Given the description of an element on the screen output the (x, y) to click on. 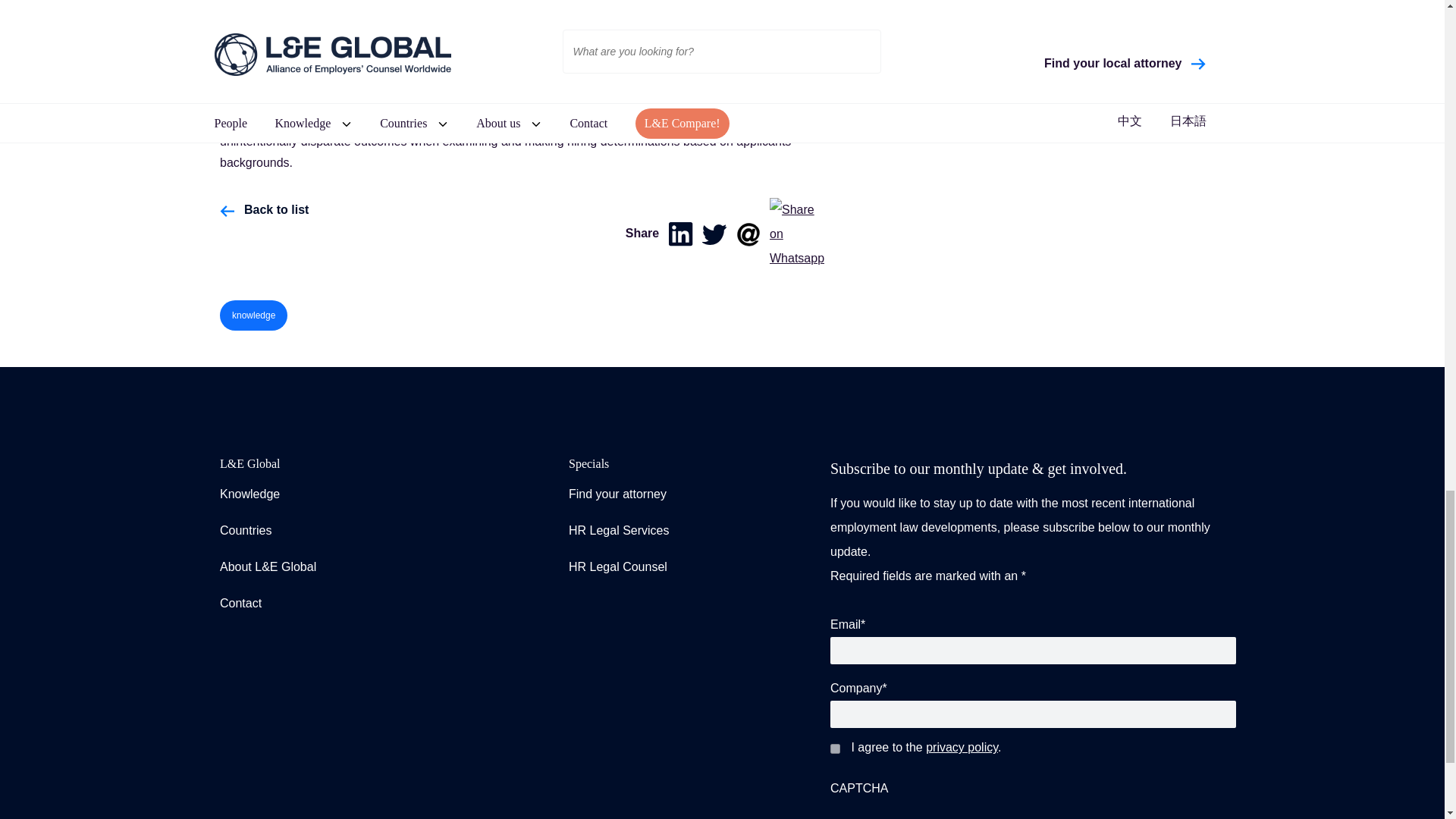
1 (834, 748)
